Given the description of an element on the screen output the (x, y) to click on. 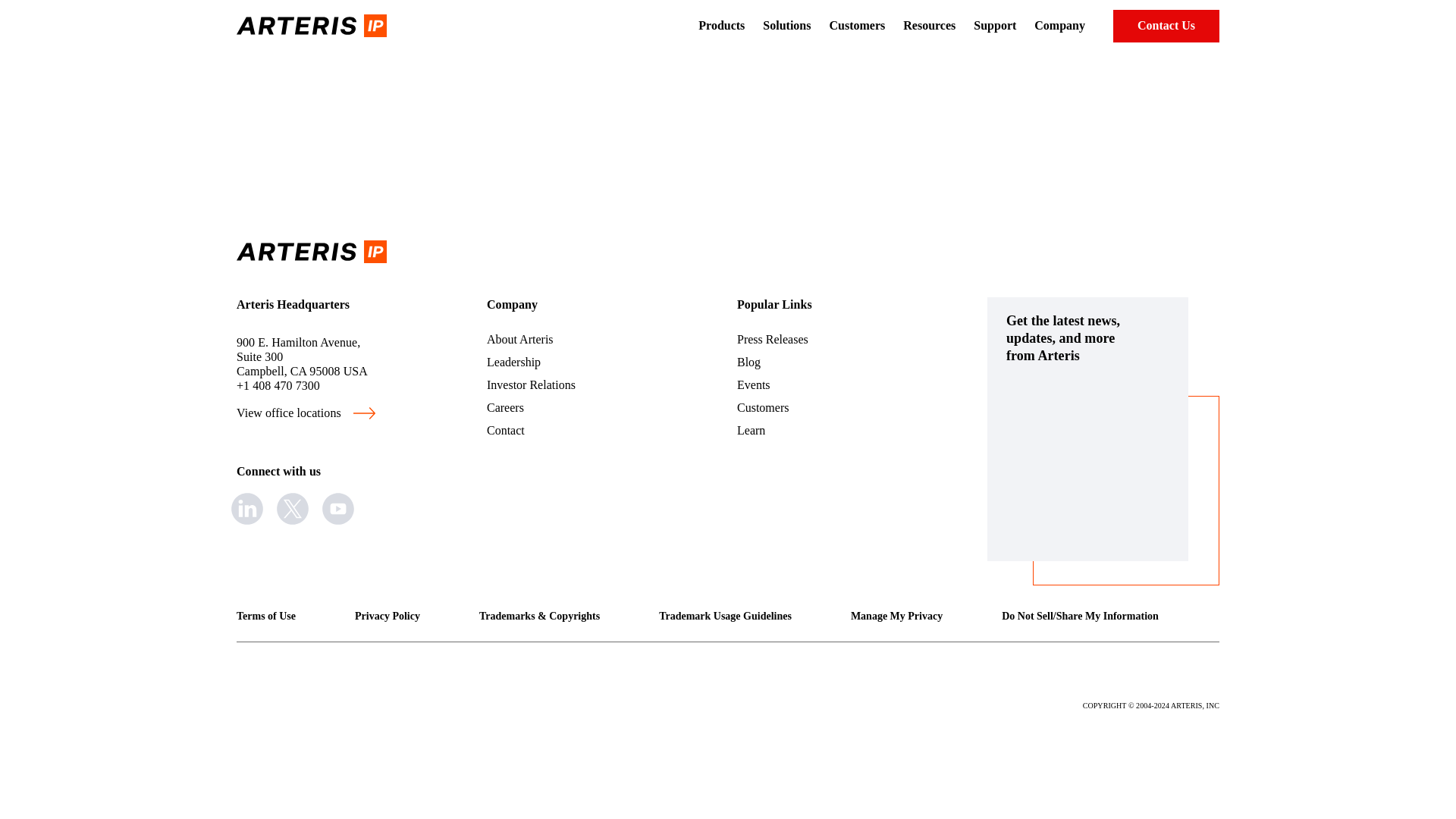
Products (721, 25)
Resources (928, 25)
Customers (856, 25)
Form 0 (1087, 461)
Solutions (786, 25)
